Given the description of an element on the screen output the (x, y) to click on. 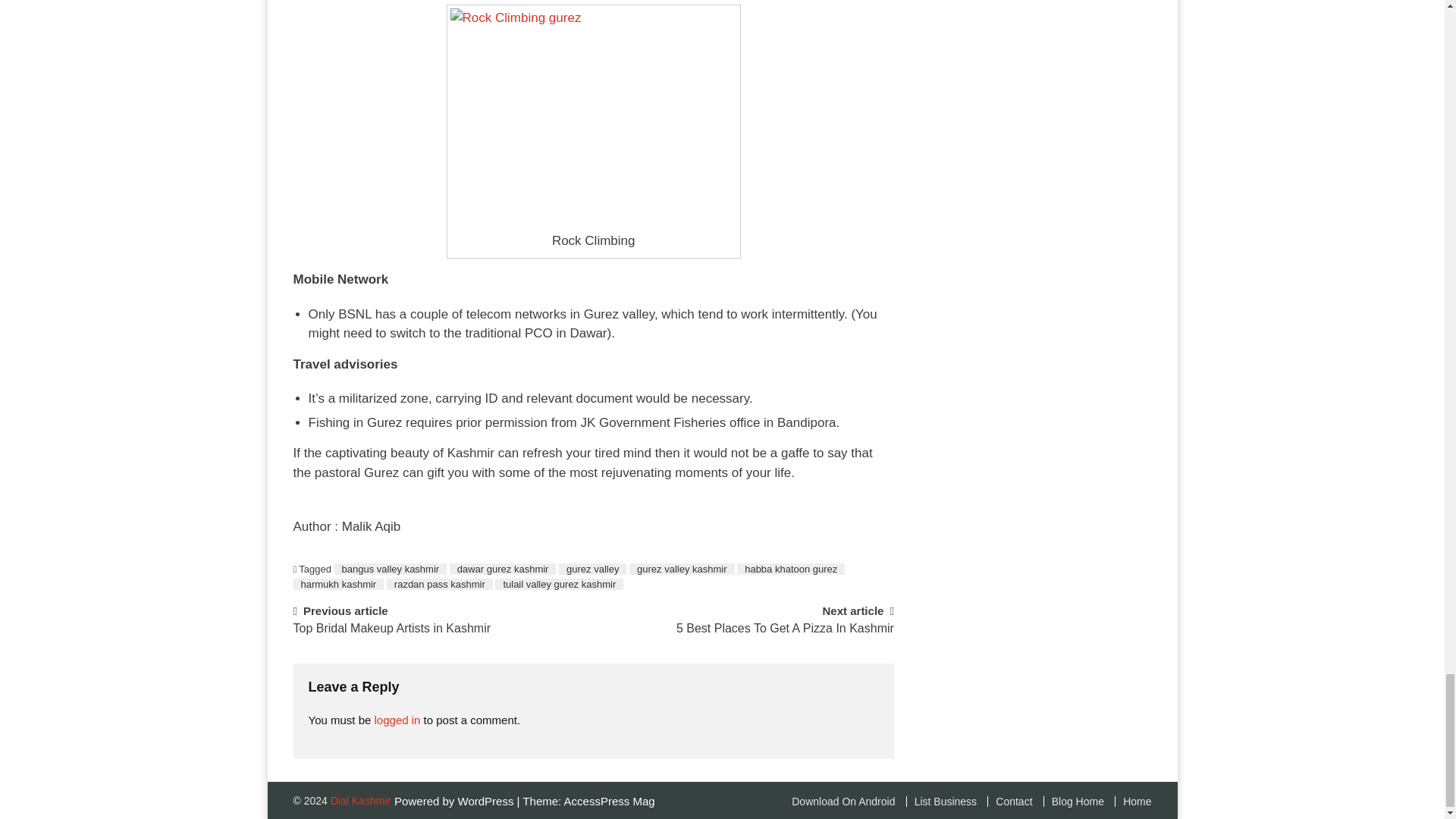
AccessPress Themes (609, 800)
